Given the description of an element on the screen output the (x, y) to click on. 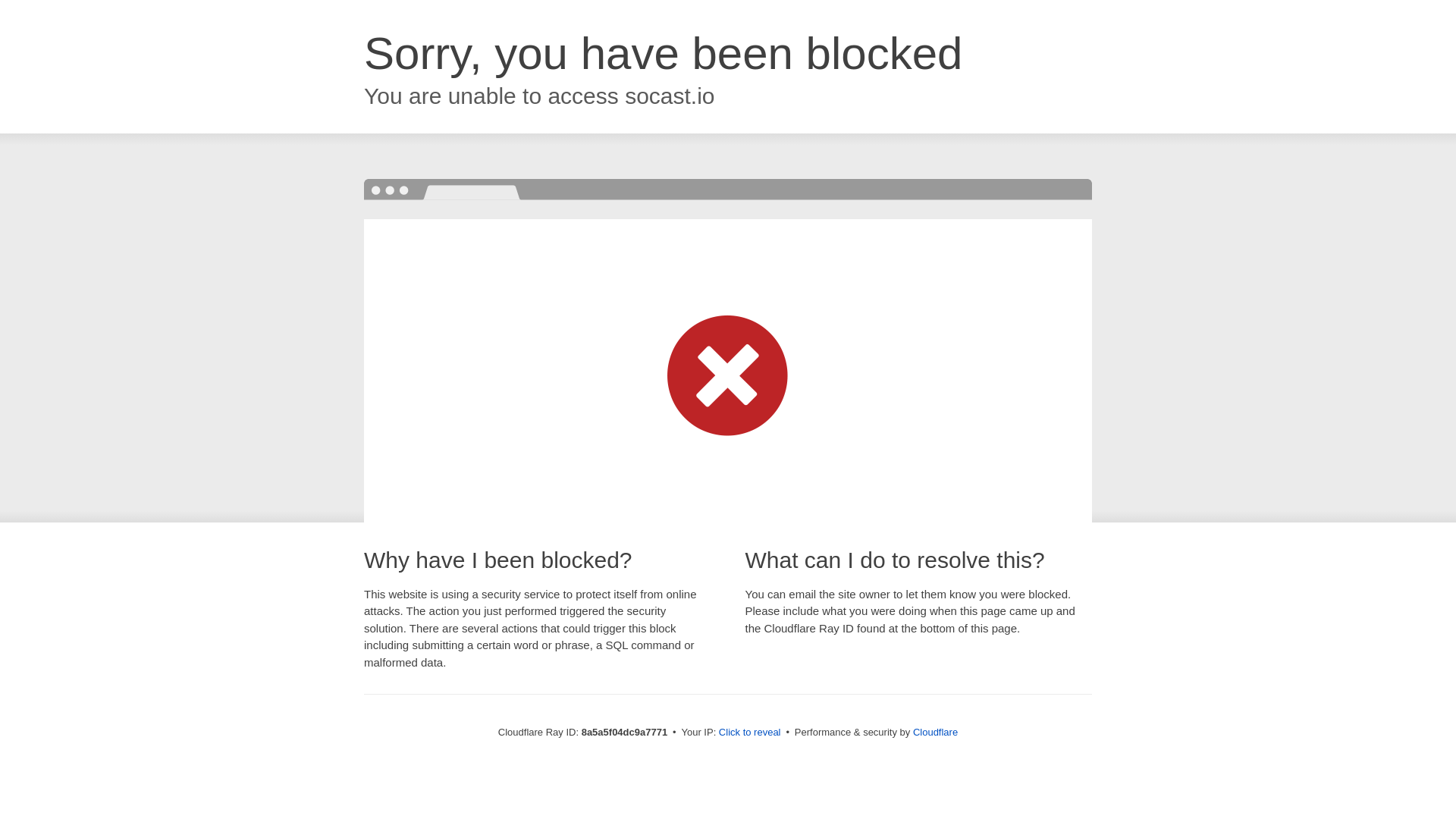
Click to reveal (749, 732)
Cloudflare (935, 731)
